Given the description of an element on the screen output the (x, y) to click on. 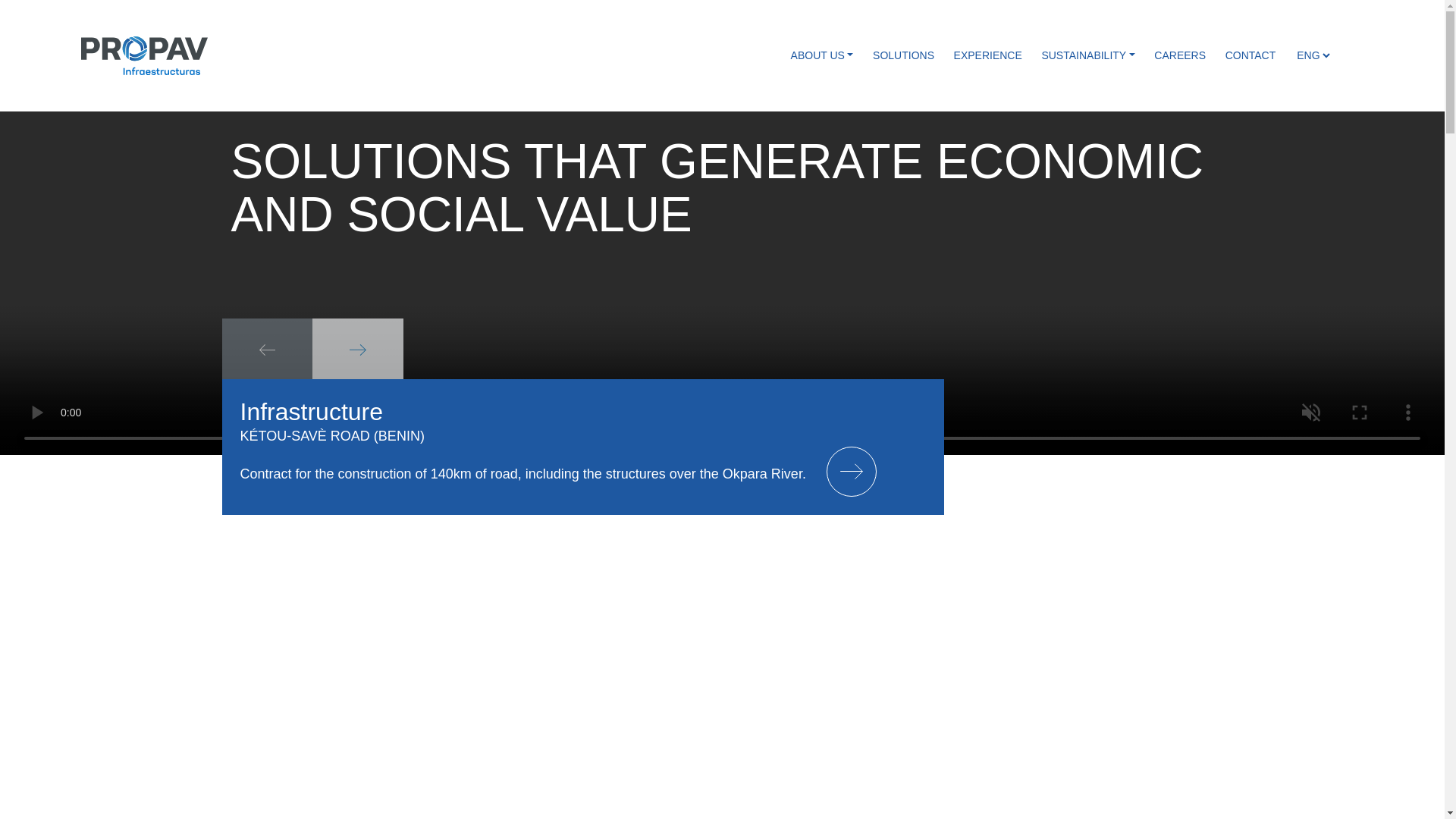
SOLUTIONS (903, 55)
ABOUT US (821, 55)
EXPERIENCE (987, 55)
SUSTAINABILITY (1088, 55)
CONTACT (1245, 55)
CAREERS (1179, 55)
